Given the description of an element on the screen output the (x, y) to click on. 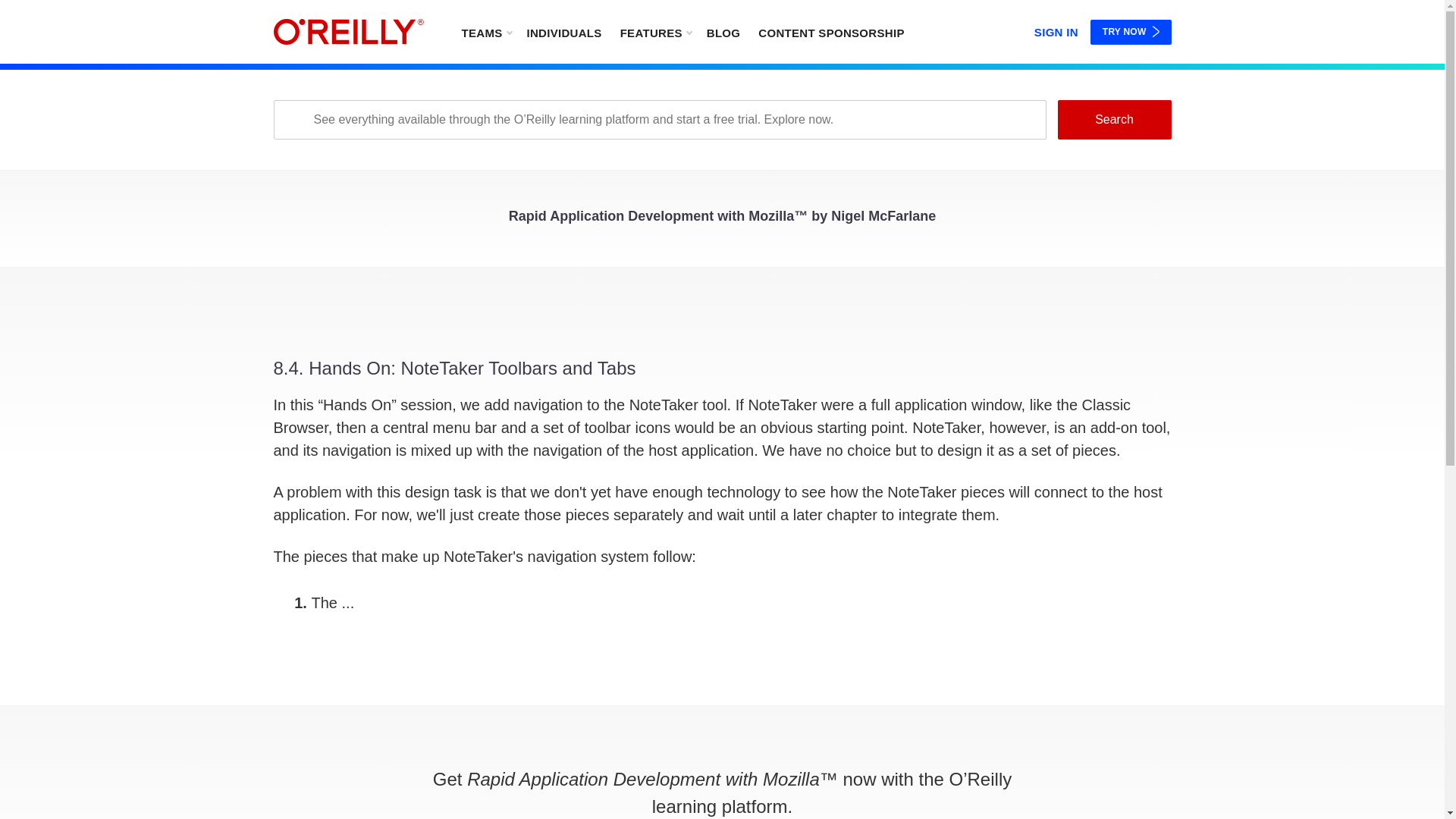
home page (348, 31)
CONTENT SPONSORSHIP (831, 31)
FEATURES (655, 31)
Search (1113, 119)
Search (1113, 119)
BLOG (723, 31)
Search (1113, 119)
TEAMS (486, 31)
INDIVIDUALS (563, 31)
SIGN IN (1055, 29)
TRY NOW (1131, 32)
